Given the description of an element on the screen output the (x, y) to click on. 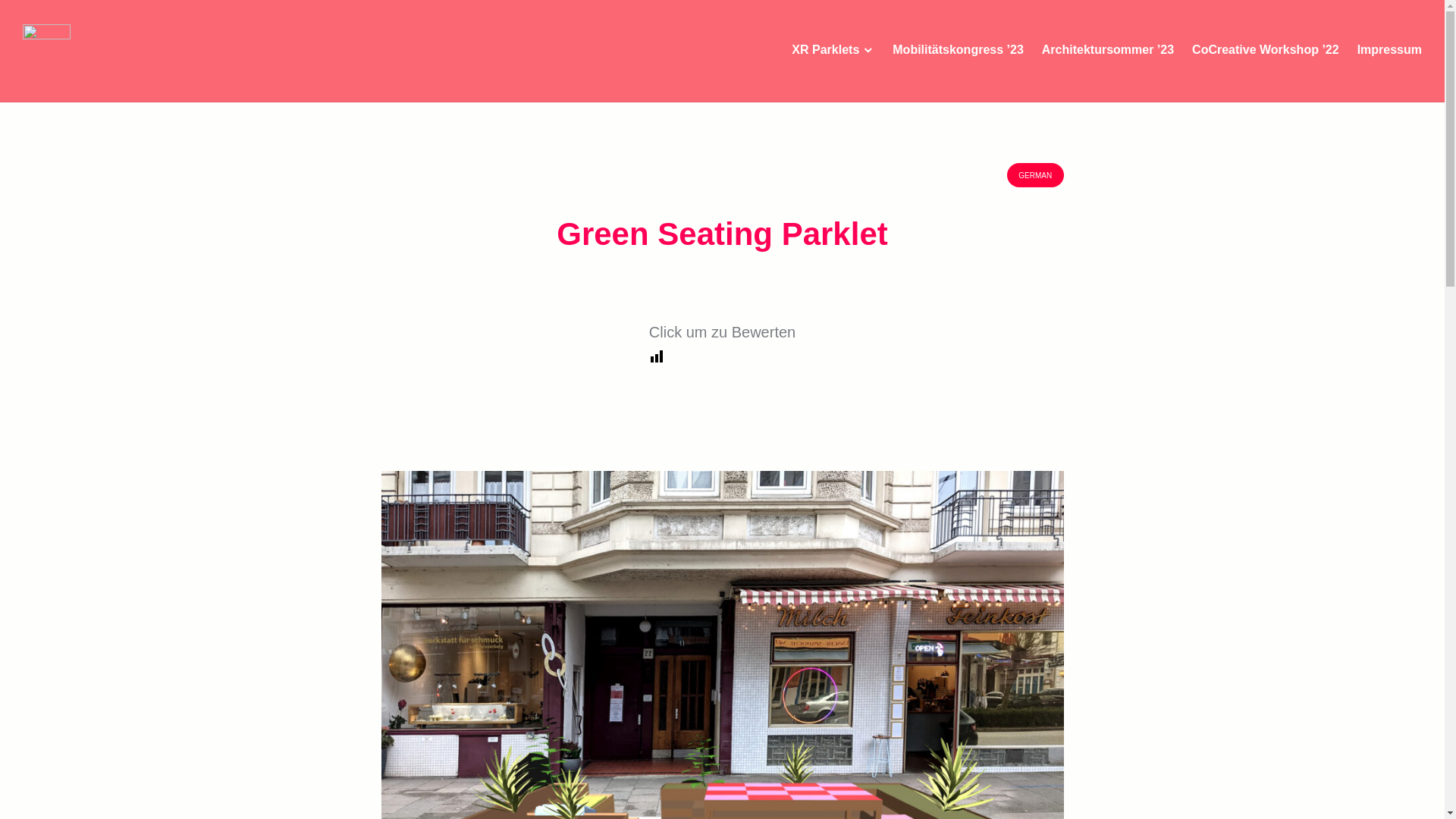
GERMAN (1035, 174)
XR Parklets (833, 50)
Impressum (1389, 50)
